Given the description of an element on the screen output the (x, y) to click on. 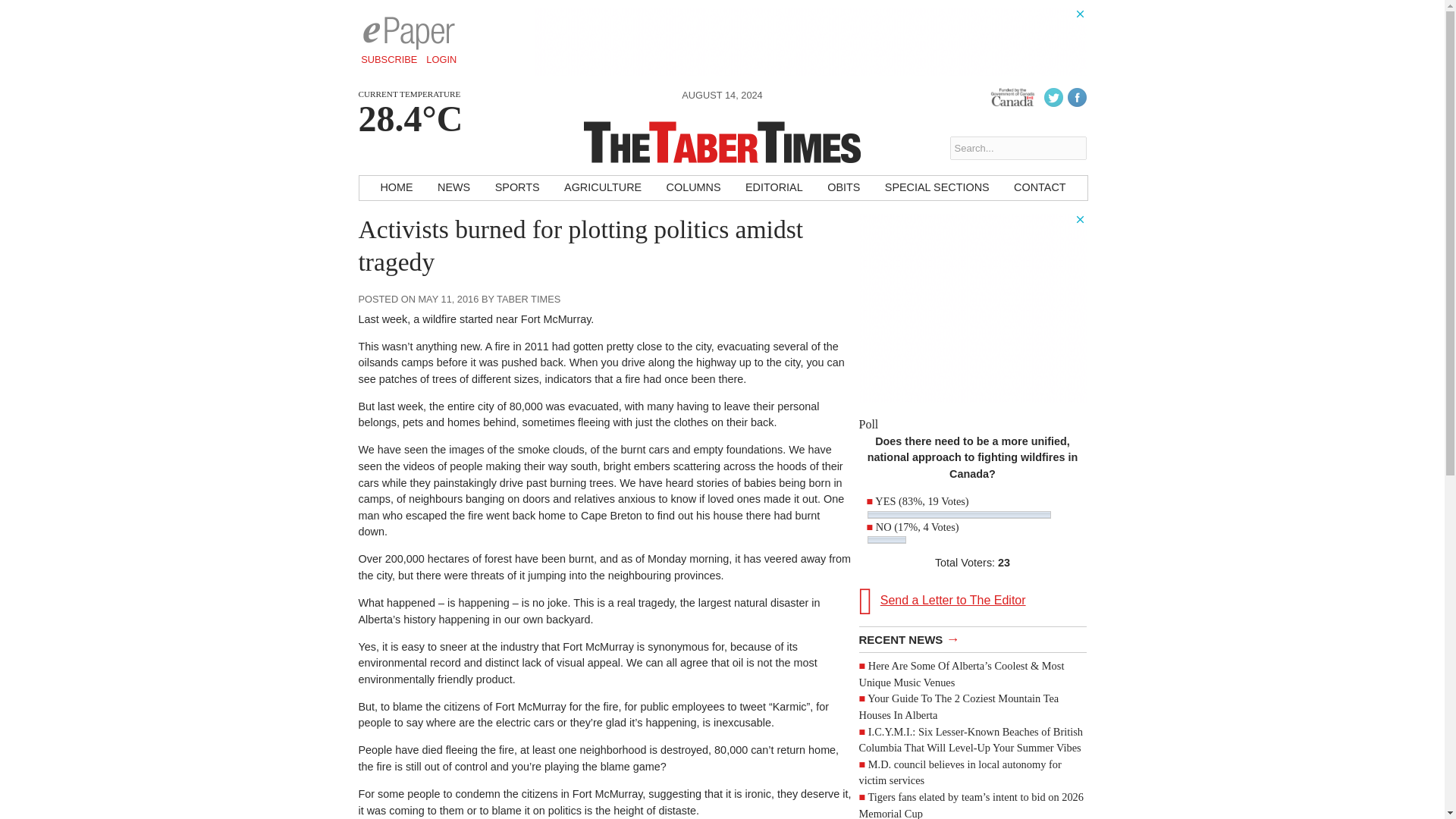
Send a Letter to The Editor (972, 600)
AGRICULTURE (602, 187)
SPORTS (517, 187)
COLUMNS (694, 187)
M.D. council believes in local autonomy for victim services (960, 772)
OBITS (843, 187)
SPECIAL SECTIONS (937, 187)
EDITORIAL (774, 187)
SUBSCRIBE (389, 58)
CONTACT (1039, 187)
